Given the description of an element on the screen output the (x, y) to click on. 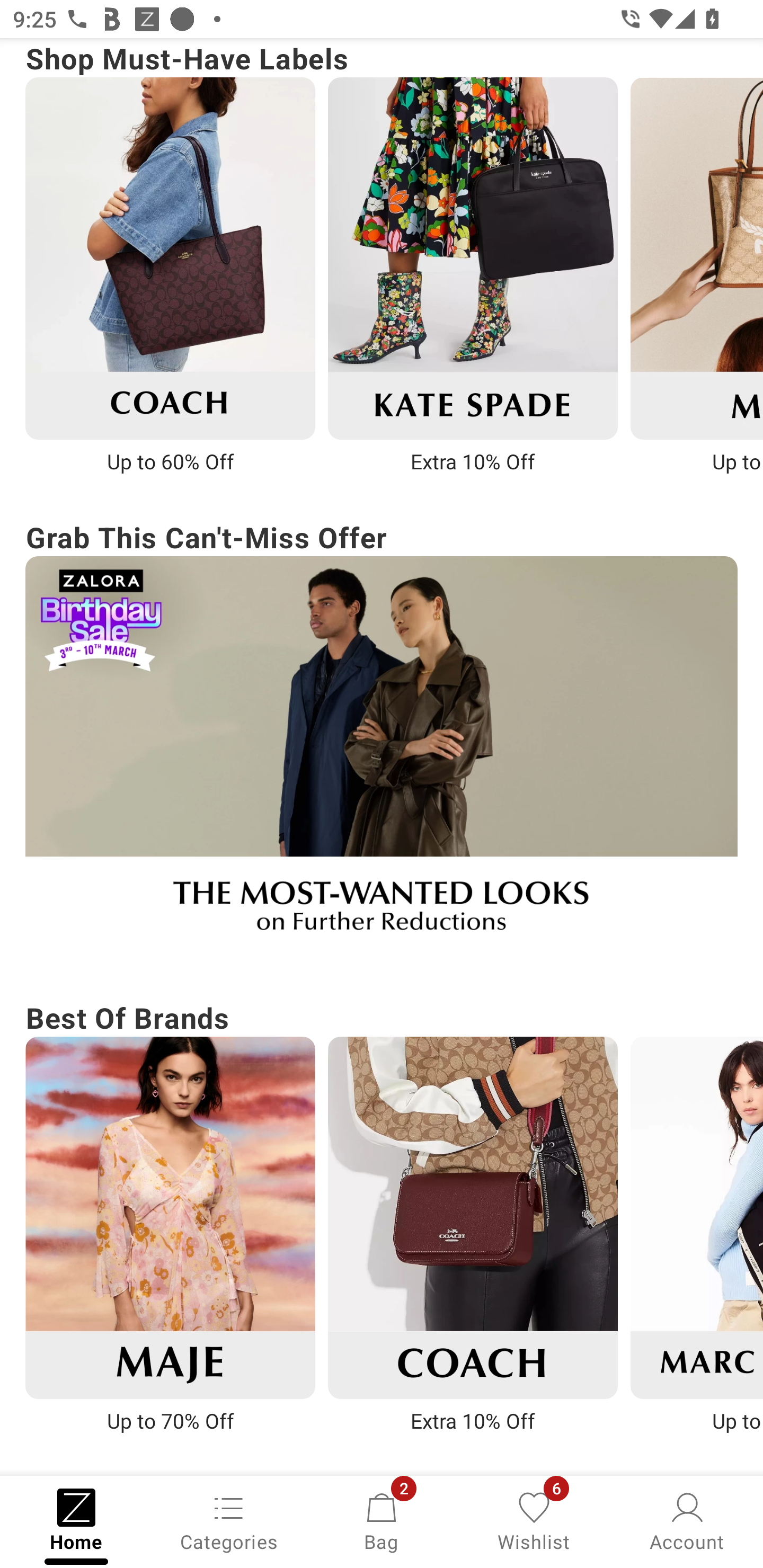
Campaign banner (170, 257)
Campaign banner (473, 257)
Grab This Can't-Miss Offer Campaign banner (381, 735)
Campaign banner (381, 756)
Campaign banner (170, 1217)
Campaign banner (473, 1217)
Campaign banner (696, 1217)
Categories (228, 1519)
Bag, 2 new notifications Bag (381, 1519)
Wishlist, 6 new notifications Wishlist (533, 1519)
Account (686, 1519)
